Given the description of an element on the screen output the (x, y) to click on. 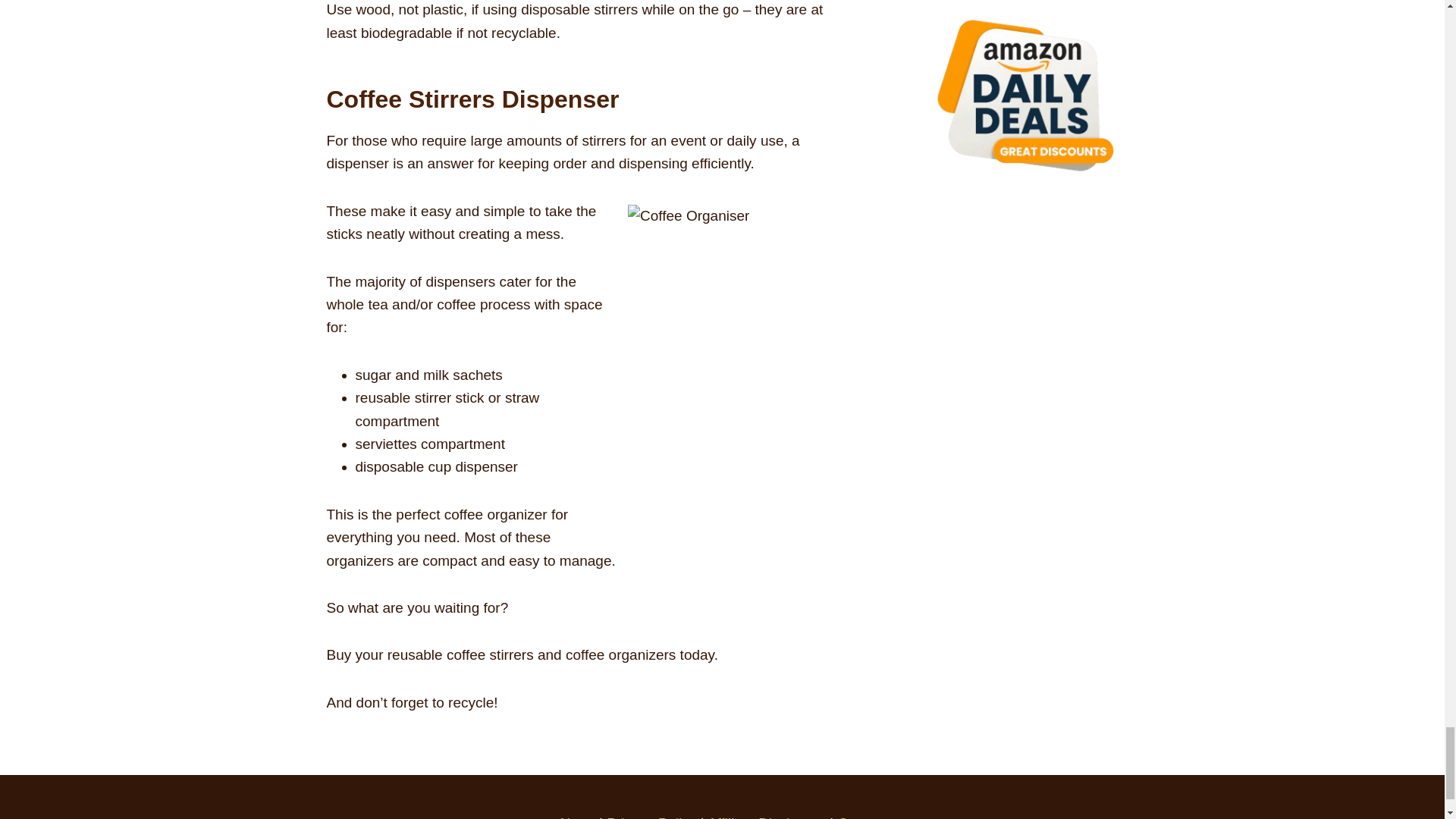
Privacy Policy (651, 816)
Affiliate Disclosure (766, 816)
About (576, 816)
Contact (861, 816)
